Given the description of an element on the screen output the (x, y) to click on. 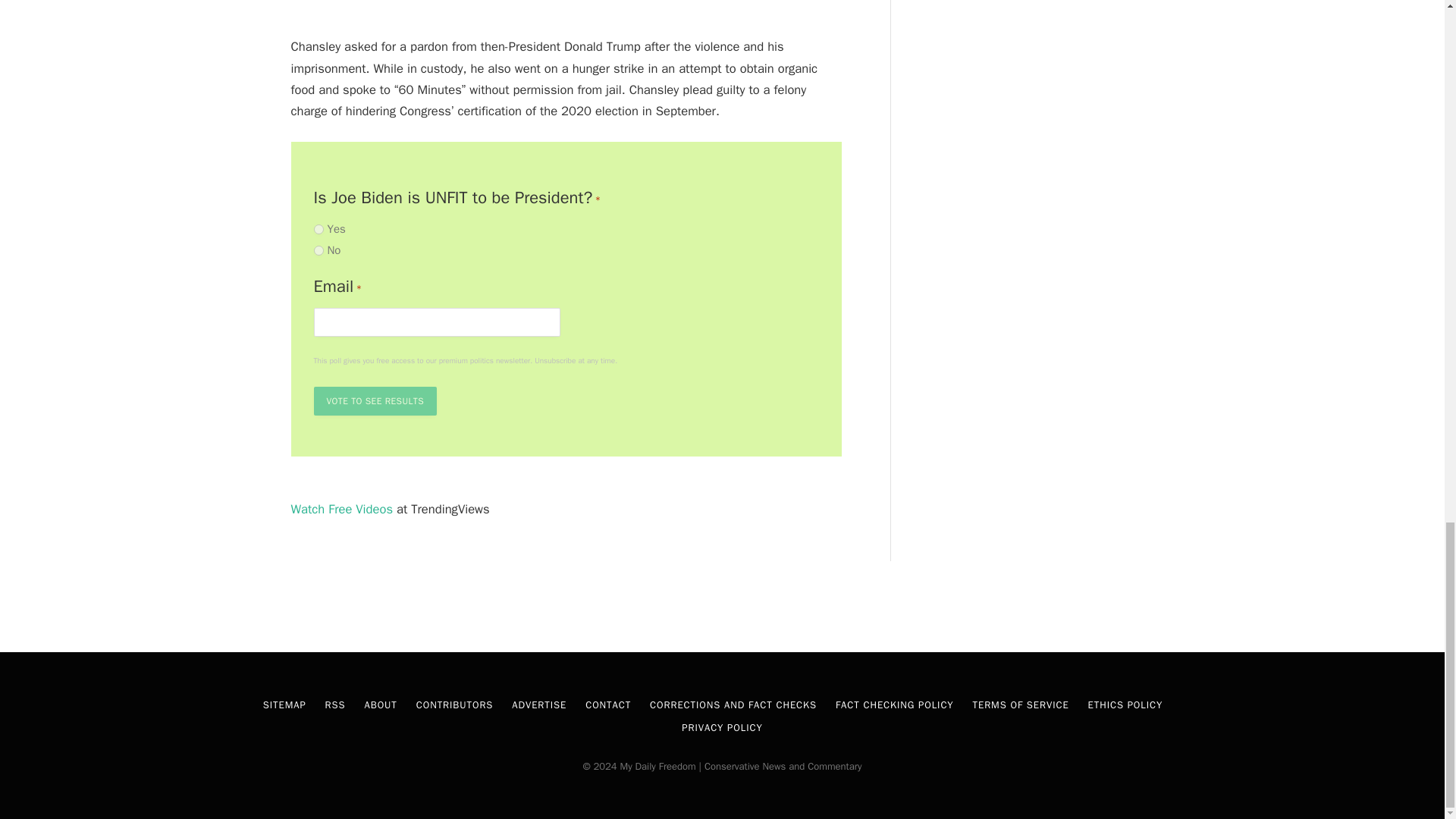
CONTACT (607, 704)
gpoll1b5b3d8f6 (318, 229)
ETHICS POLICY (1125, 704)
RSS (335, 704)
ADVERTISE (539, 704)
Vote to see results (375, 400)
CONTRIBUTORS (454, 704)
CORRECTIONS AND FACT CHECKS (732, 704)
SITEMAP (284, 704)
Watch Free Videos (342, 508)
gpoll1b2a53ce5 (318, 250)
TERMS OF SERVICE (1020, 704)
ABOUT (380, 704)
Vote to see results (375, 400)
FACT CHECKING POLICY (894, 704)
